Given the description of an element on the screen output the (x, y) to click on. 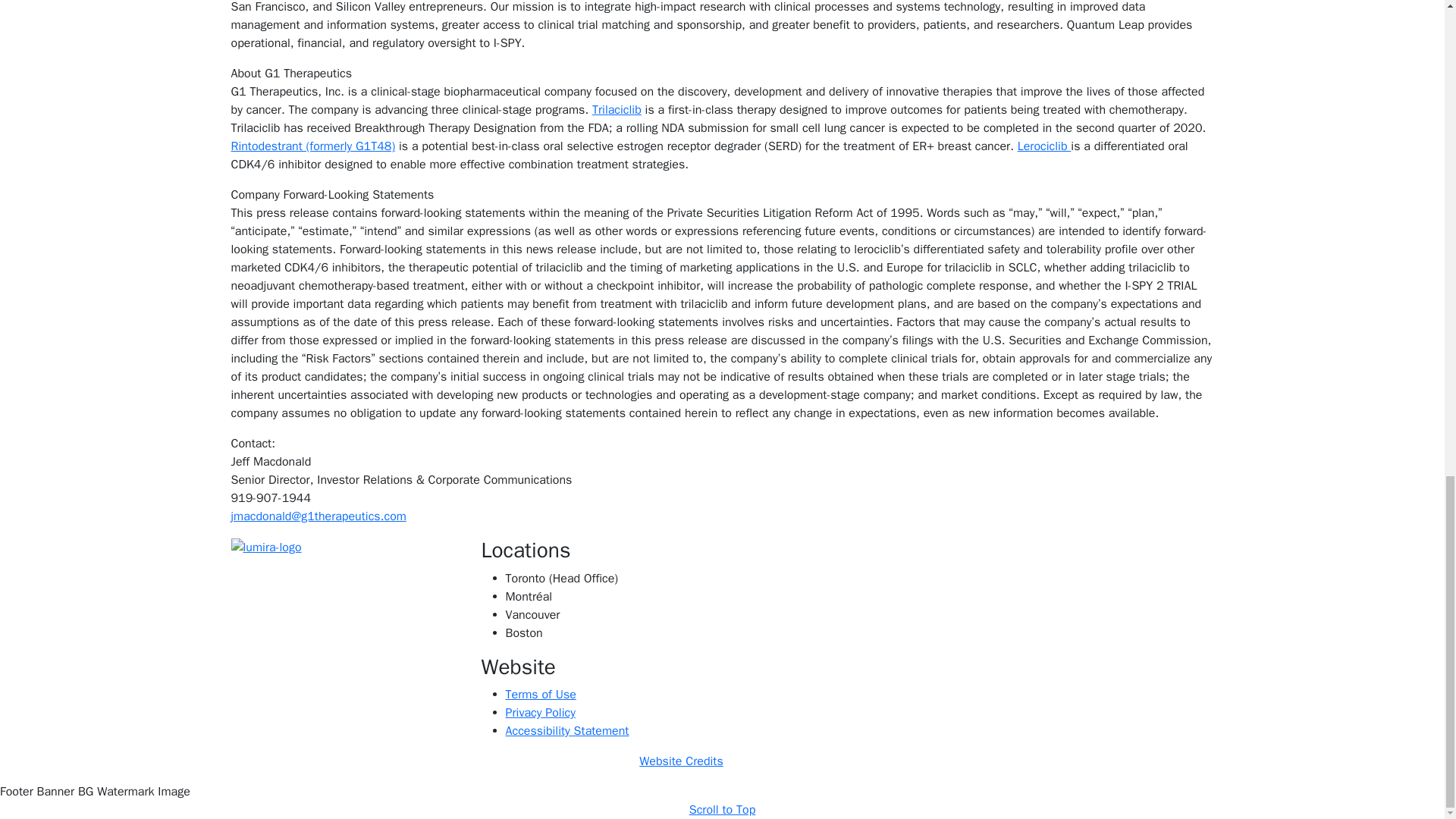
Privacy Policy (540, 712)
Terms of Use (540, 694)
Website Credits (681, 761)
Trilaciclib (617, 109)
Accessibility Statement (566, 730)
Vancouver (532, 614)
Boston (523, 632)
Lerociclib (1044, 145)
